Given the description of an element on the screen output the (x, y) to click on. 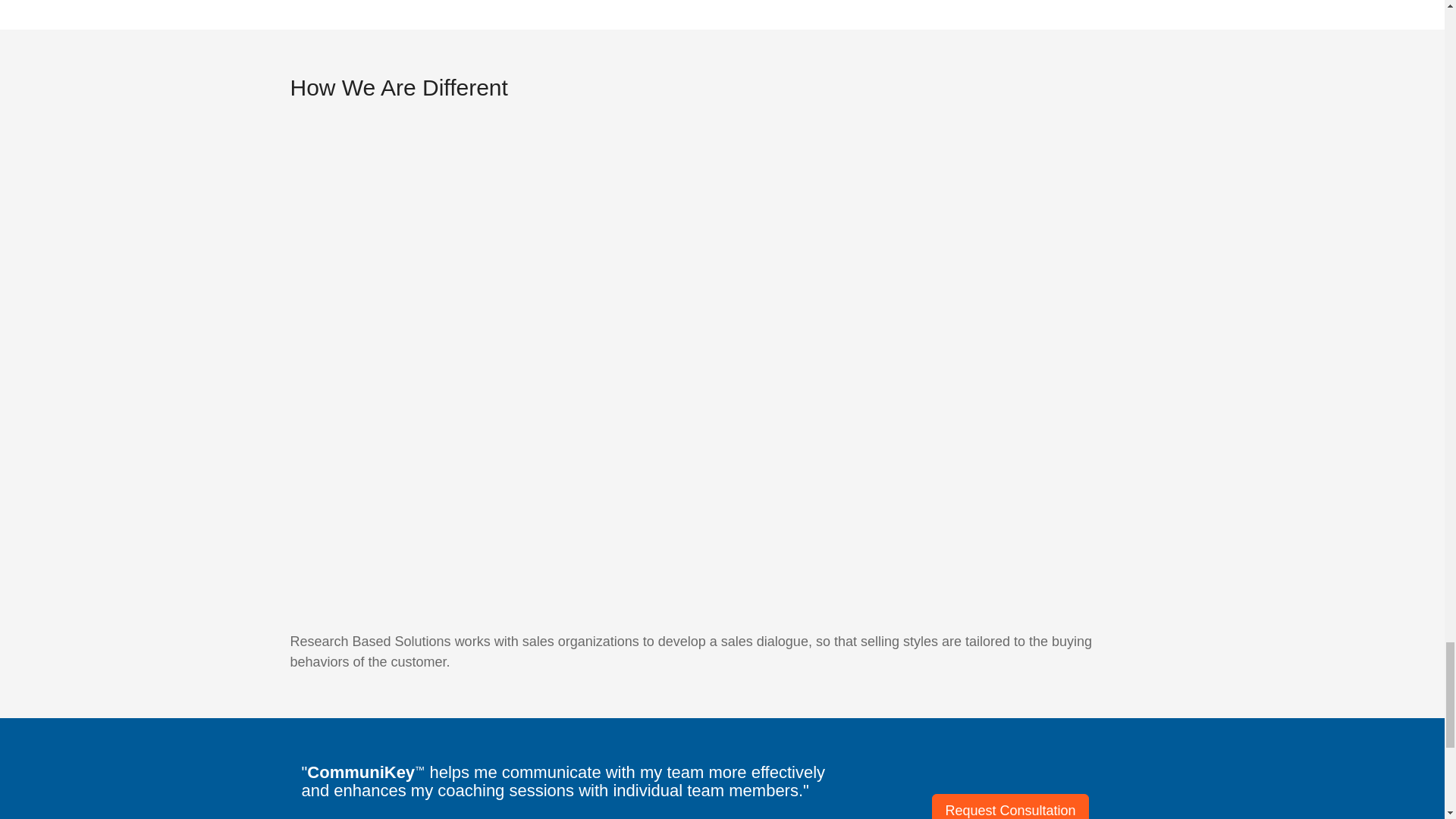
Request Consultation (1009, 806)
